Given the description of an element on the screen output the (x, y) to click on. 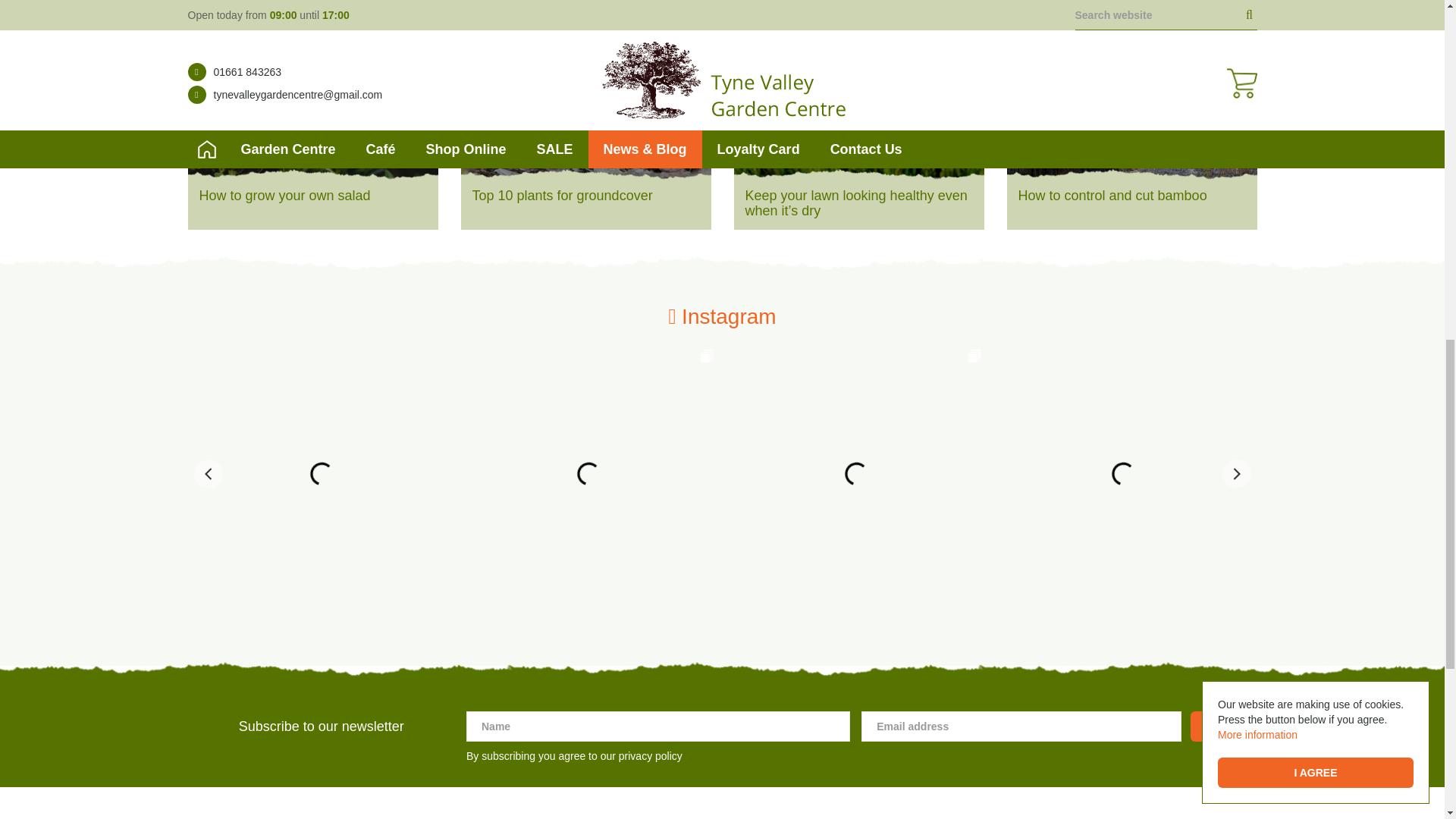
Submit (1223, 726)
